Given the description of an element on the screen output the (x, y) to click on. 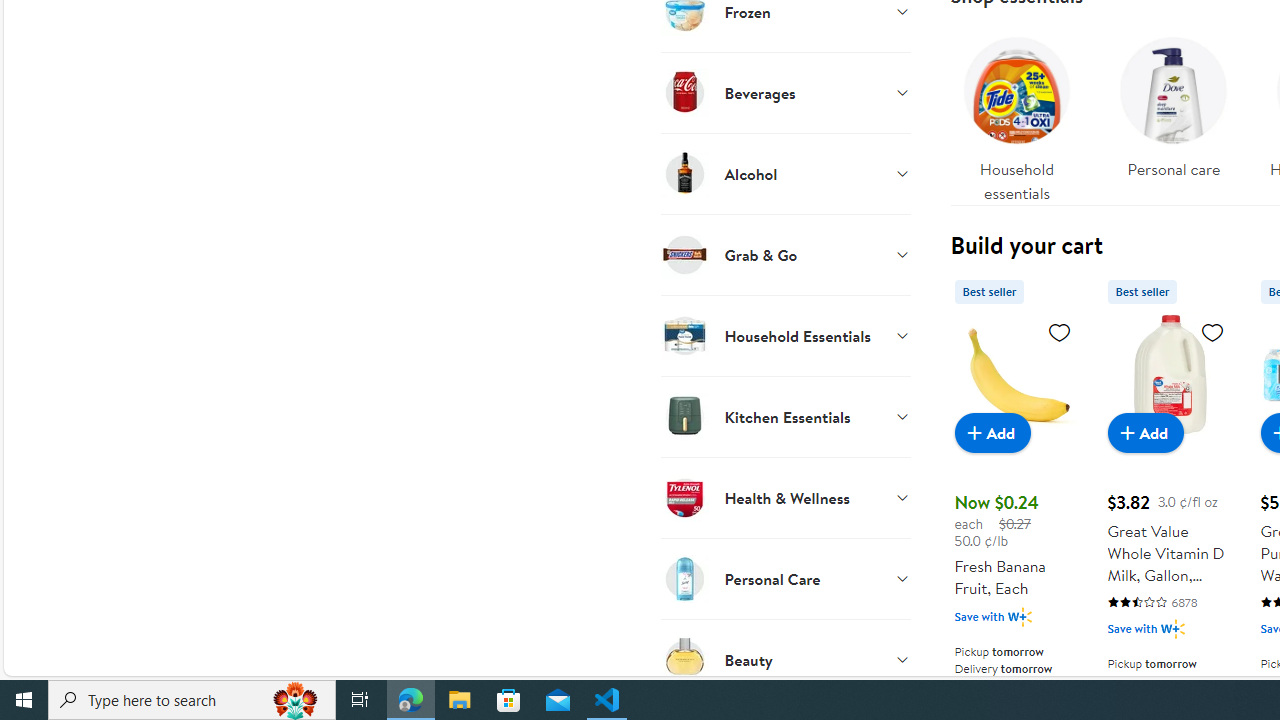
Personal Care (785, 578)
Household essentials (1016, 114)
Add to cart - Fresh Banana Fruit, Each (992, 431)
Household Essentials (785, 335)
Walmart Plus (1172, 628)
Grab & Go (785, 254)
Sign in to add to Favorites list, Fresh Banana Fruit, Each (1059, 331)
